Given the description of an element on the screen output the (x, y) to click on. 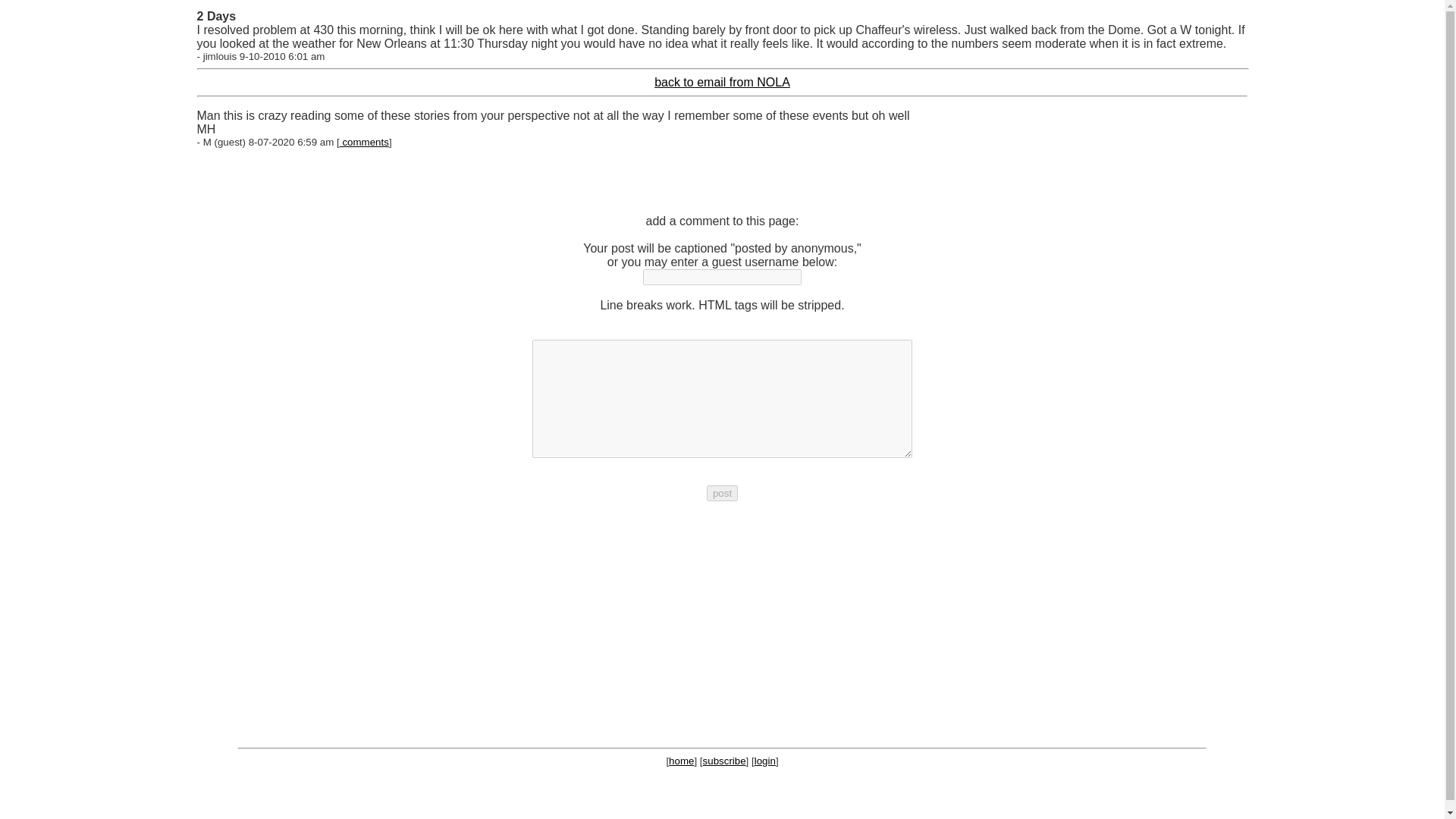
login (765, 760)
home (681, 760)
comments (363, 142)
subscribe (724, 760)
post (722, 493)
post (722, 493)
back to email from NOLA (721, 82)
